Given the description of an element on the screen output the (x, y) to click on. 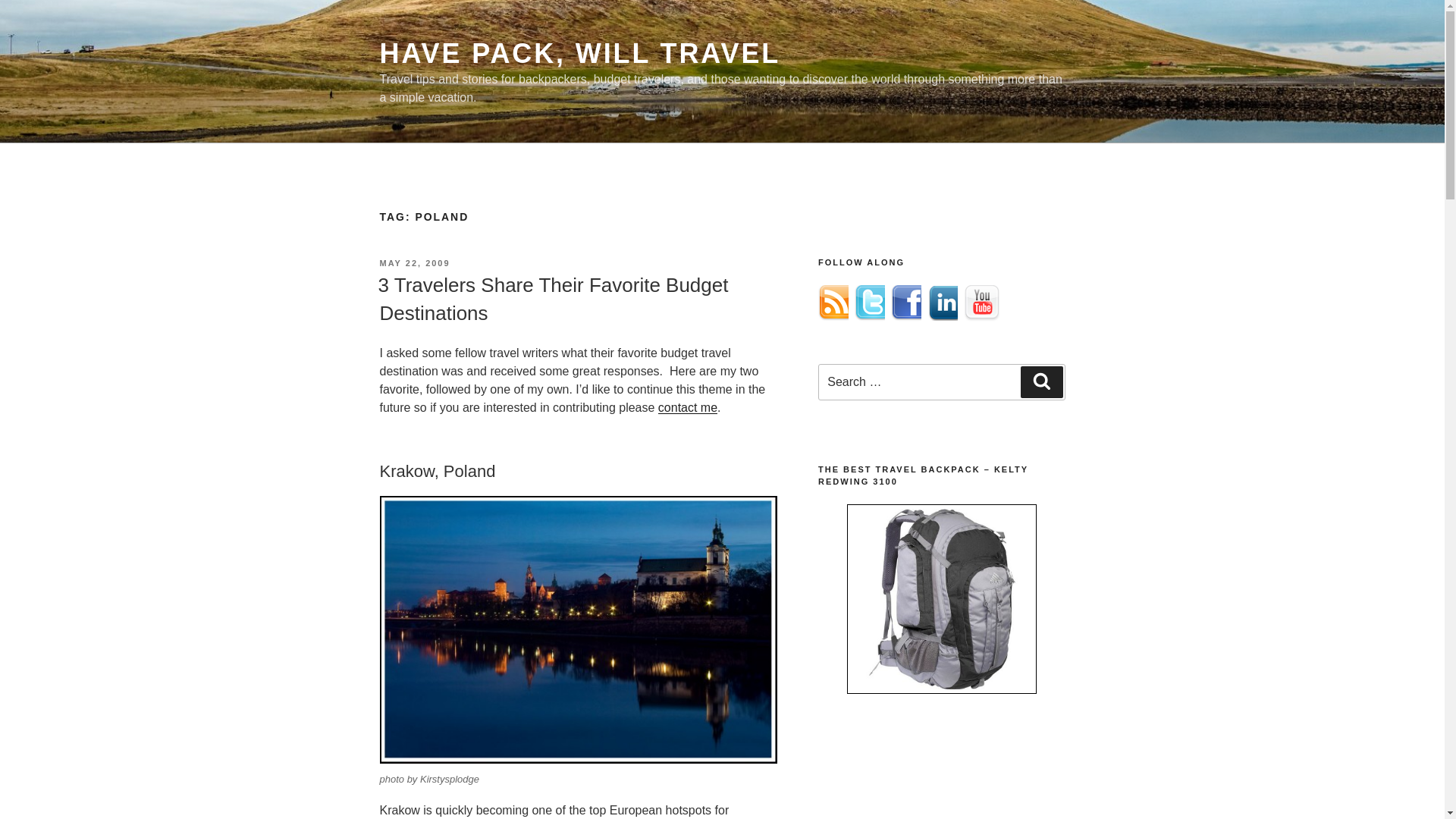
contact me (687, 407)
MAY 22, 2009 (413, 262)
HAVE PACK, WILL TRAVEL (579, 52)
Search (1041, 382)
Contact Me (687, 407)
3 Travelers Share Their Favorite Budget Destinations (552, 298)
